Given the description of an element on the screen output the (x, y) to click on. 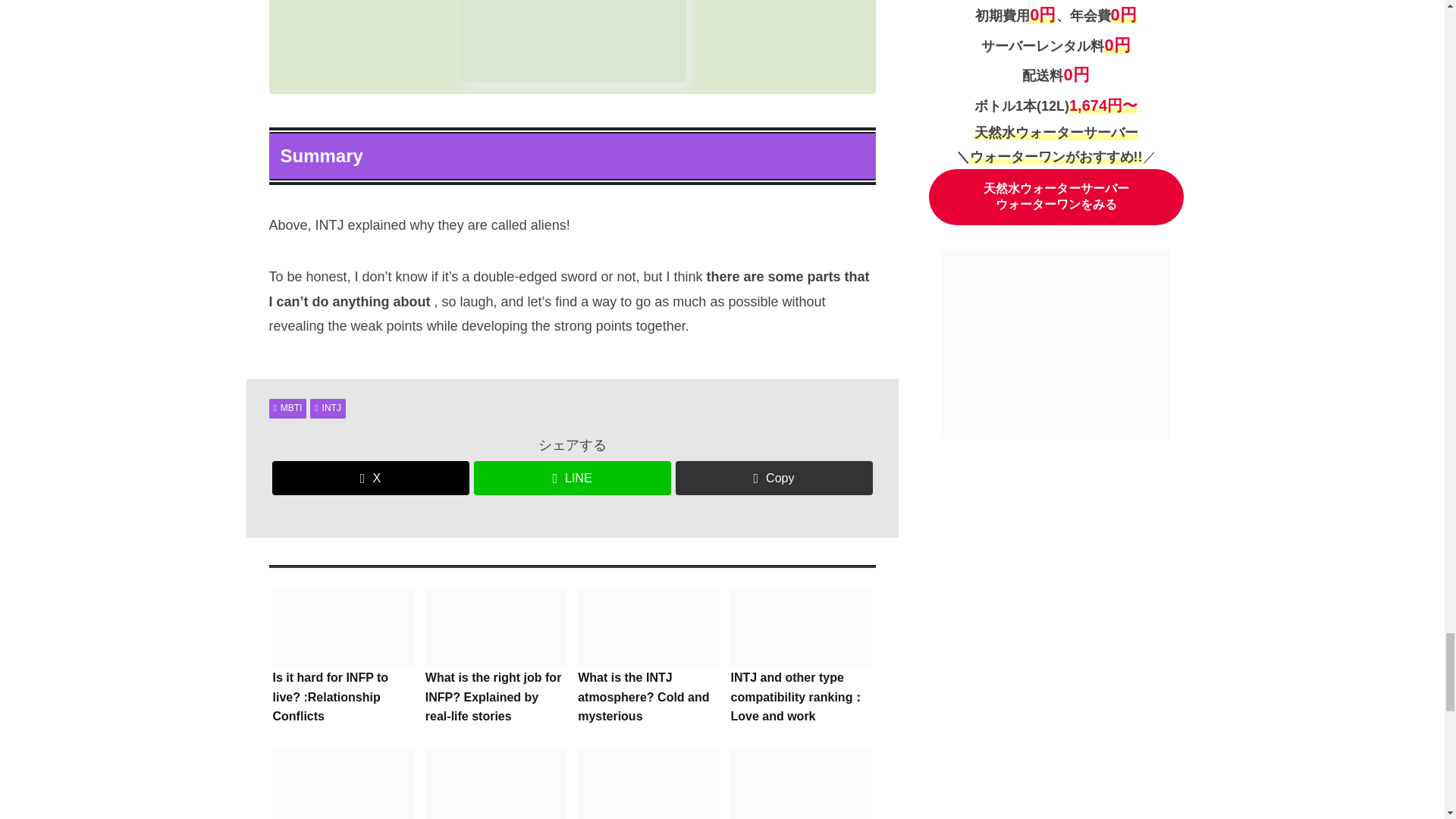
X (369, 478)
What is the INTJ atmosphere? Cold and mysterious (647, 658)
Are INFP attractive? Characteristics and romantic tendencies (496, 781)
Are INFP attractive? Characteristics and romantic tendencies (496, 781)
Share on LINE (571, 478)
Hat are the romantic tendencies of INFP? (341, 781)
Share on X (369, 478)
Is it hard for INFP to live? :Relationship Conflicts (341, 658)
Copy the title and URL (773, 478)
LINE (571, 478)
Copy (773, 478)
Are INTJ Bad at Love? The real-life experience of an INTJ (647, 781)
